Given the description of an element on the screen output the (x, y) to click on. 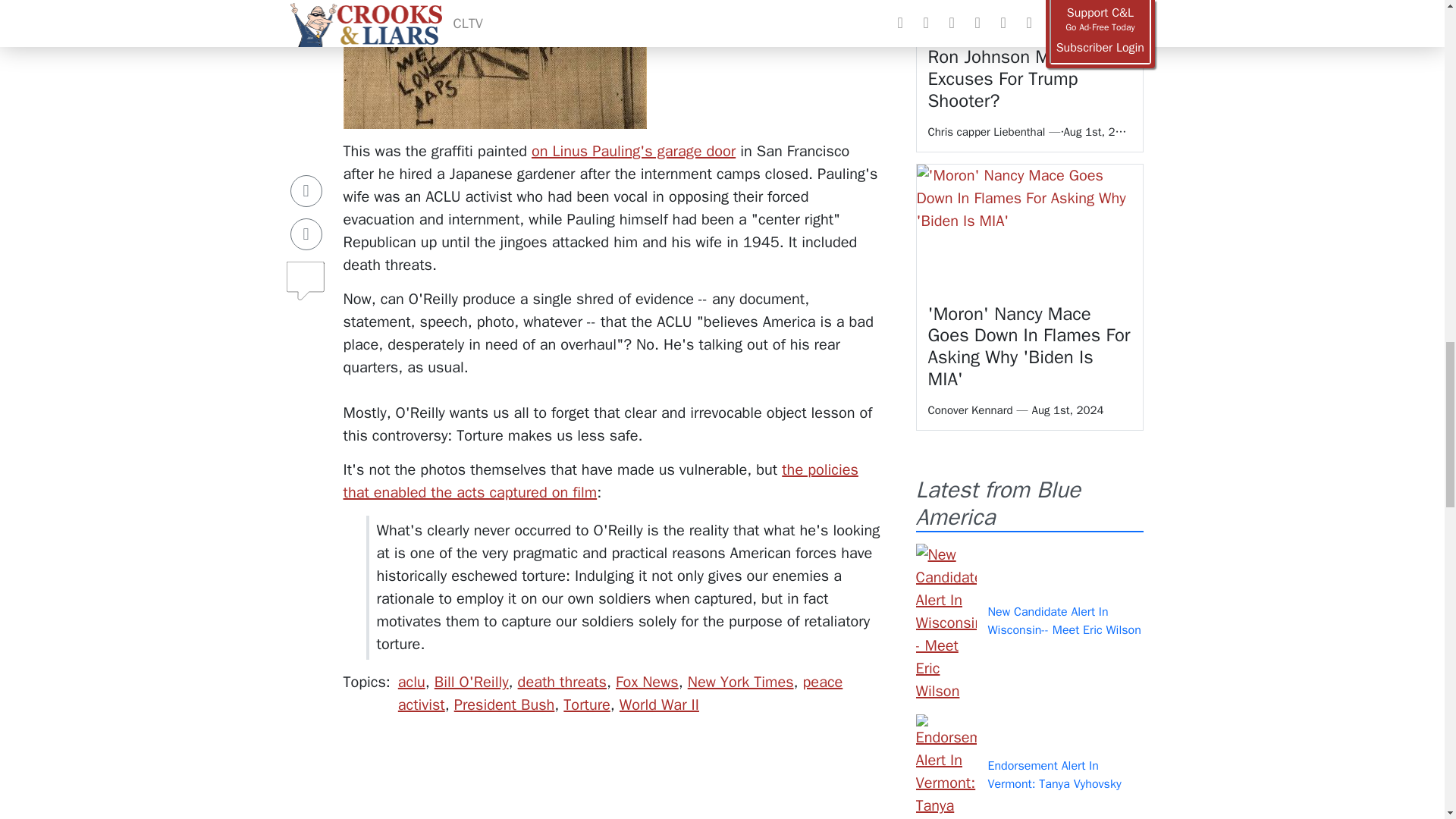
Fox News (646, 681)
peace activist (620, 693)
death threats (562, 681)
on Linus Pauling's garage door (633, 150)
President Bush (504, 704)
aclu (411, 681)
New York Times (740, 681)
the policies that enabled the acts captured on film (599, 481)
Bill O'Reilly (470, 681)
